Given the description of an element on the screen output the (x, y) to click on. 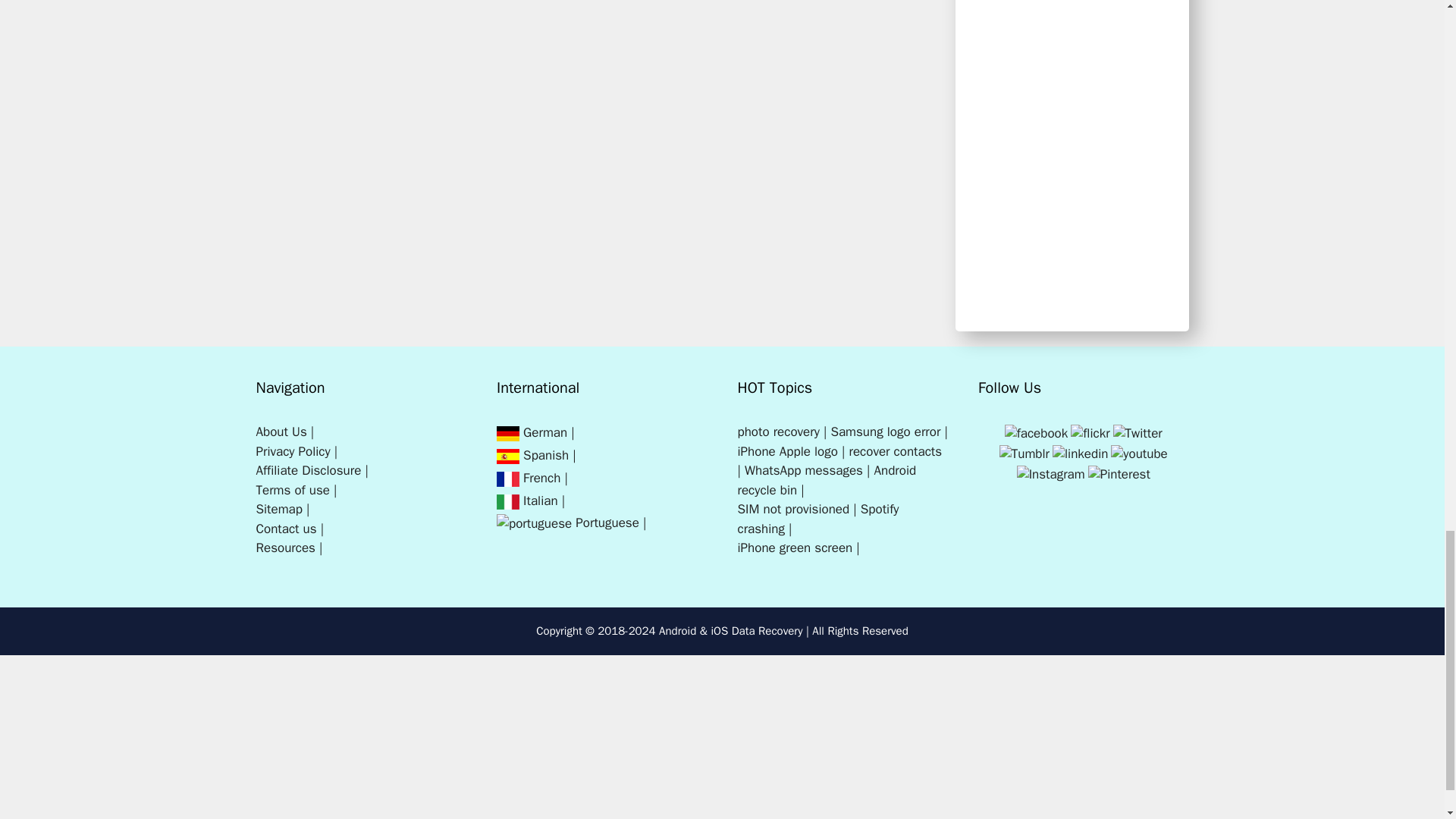
facebook (1036, 432)
Tumblr (1024, 453)
Tumblr (1023, 453)
Twitter (1137, 433)
flickr (1089, 433)
flickr (1089, 432)
facebook (1036, 433)
Twitter (1137, 432)
